Given the description of an element on the screen output the (x, y) to click on. 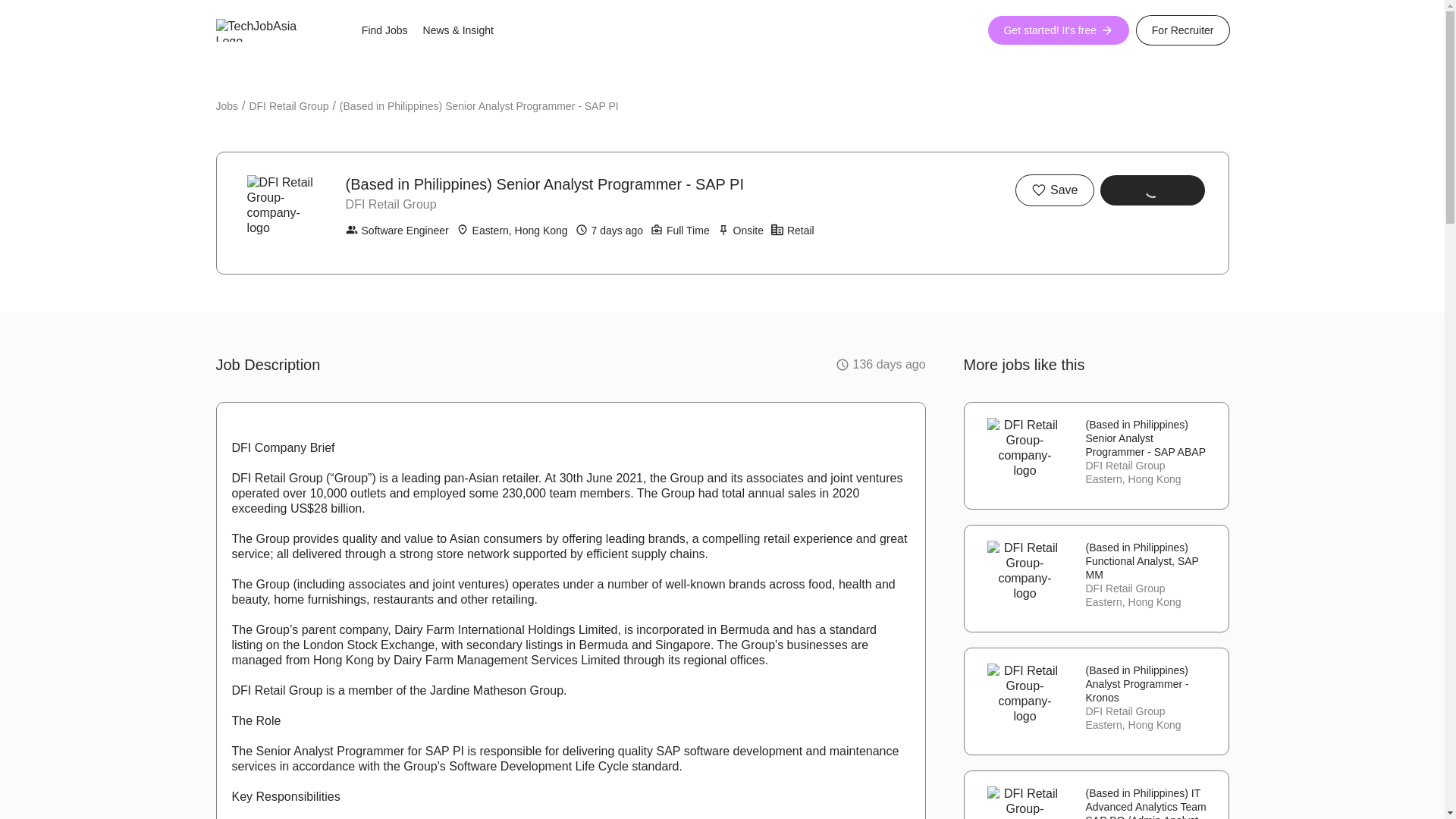
Find Jobs (384, 30)
Get started! It's free (1058, 30)
For Recruiter (1182, 30)
DFI Retail Group (288, 106)
Save (1054, 190)
Jobs (226, 106)
